Given the description of an element on the screen output the (x, y) to click on. 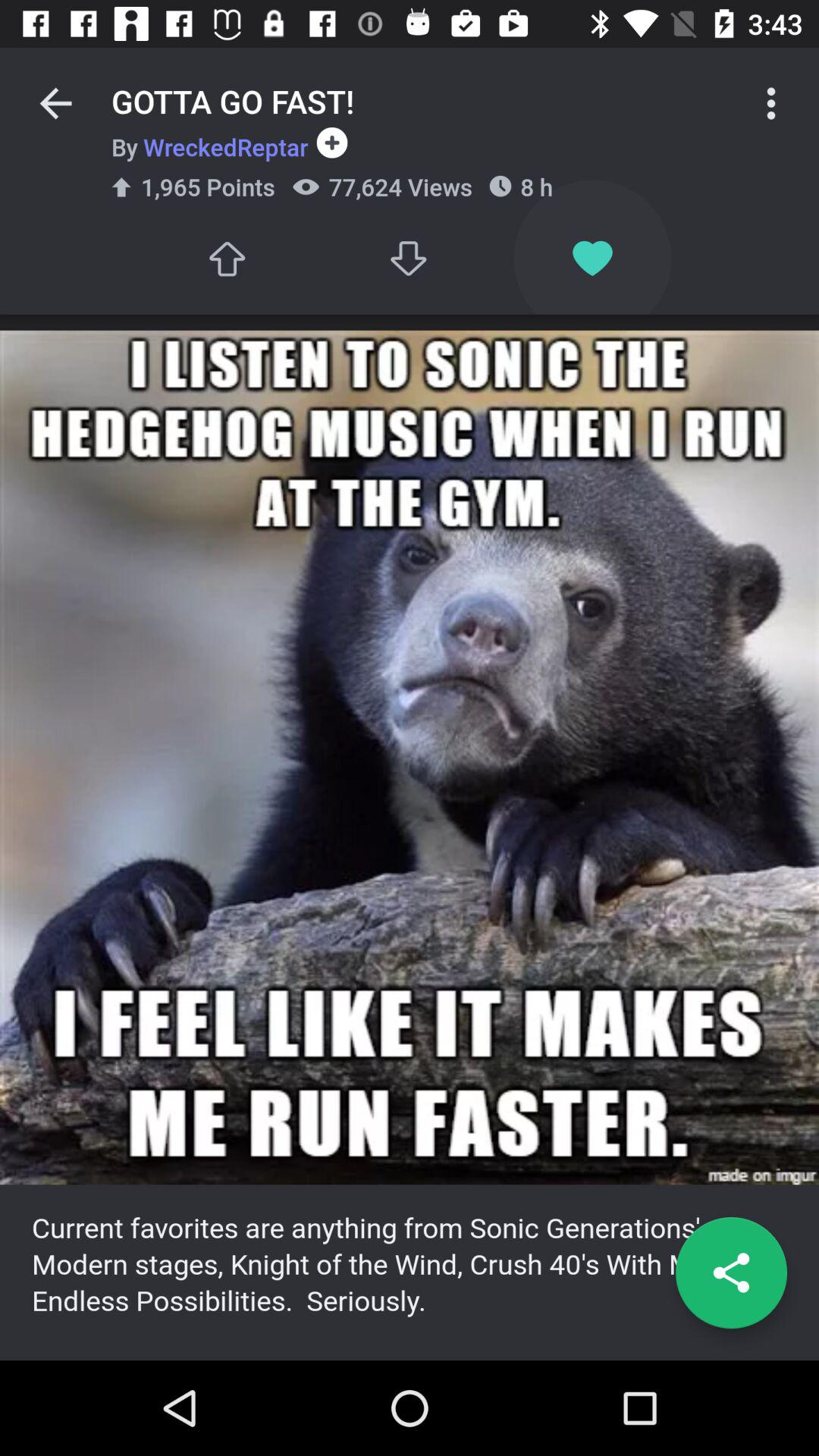
click item next to by wreckedreptar icon (328, 142)
